Given the description of an element on the screen output the (x, y) to click on. 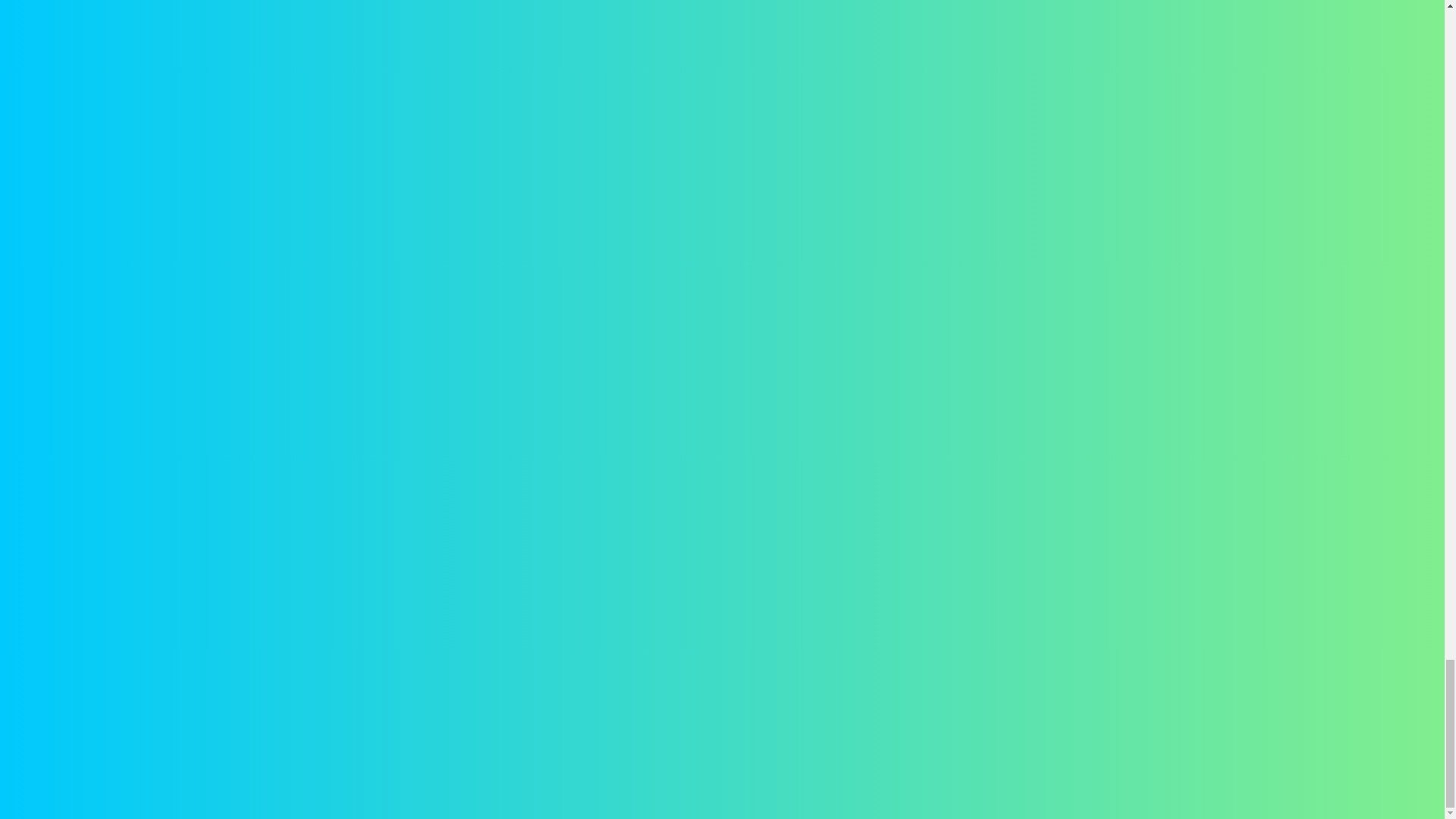
PRIVACY POLICY (844, 657)
DOWNLOAD (575, 495)
FAQS (652, 657)
CONTACTUS (530, 657)
HOME (584, 657)
